Given the description of an element on the screen output the (x, y) to click on. 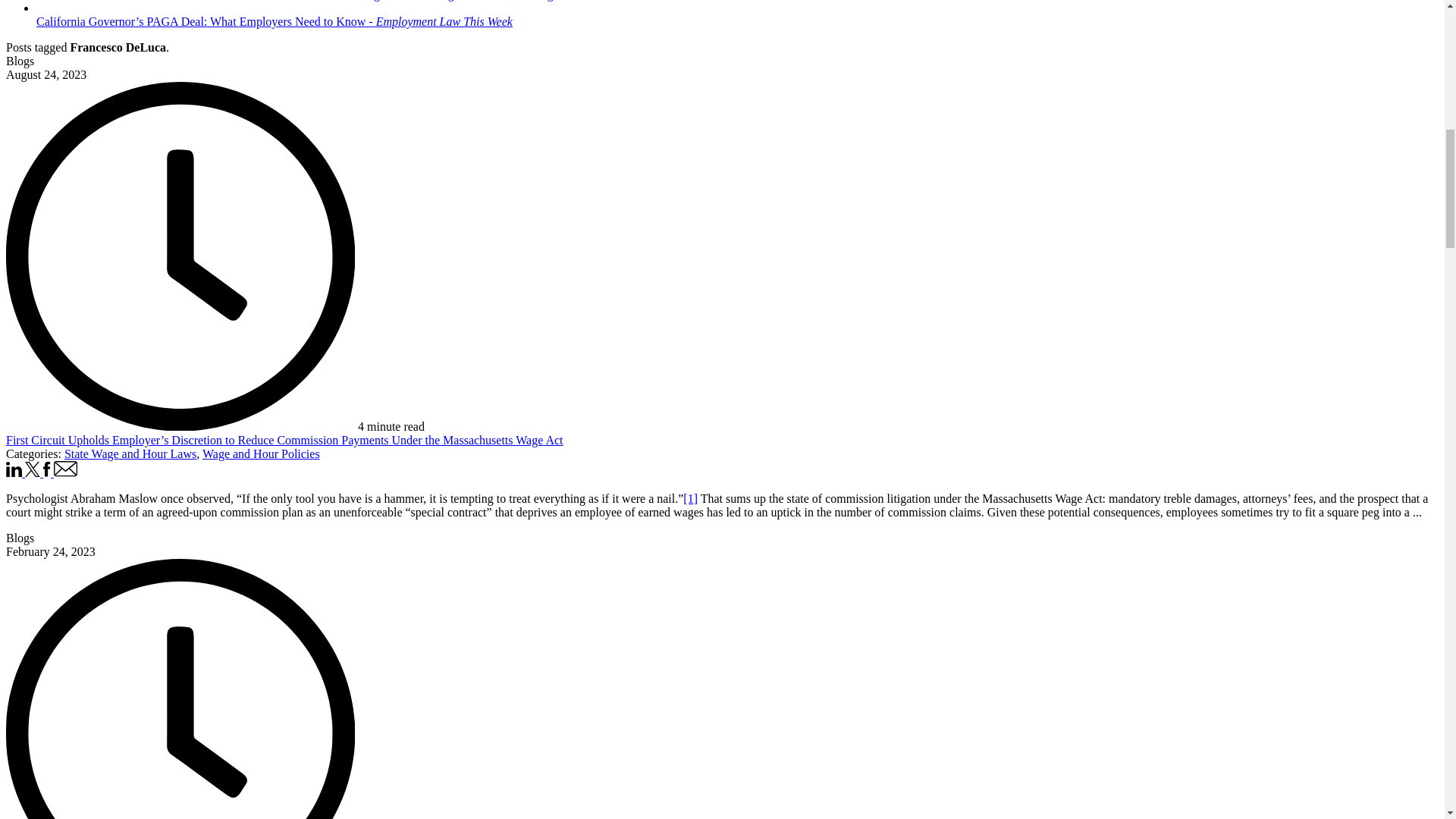
Email (65, 468)
State Wage and Hour Laws (130, 453)
Wage and Hour Policies (261, 453)
Email (65, 472)
Clock (180, 688)
Twitter (33, 472)
Clock (180, 255)
Twitter (32, 468)
Linkedin (14, 472)
Linkedin (13, 468)
